Given the description of an element on the screen output the (x, y) to click on. 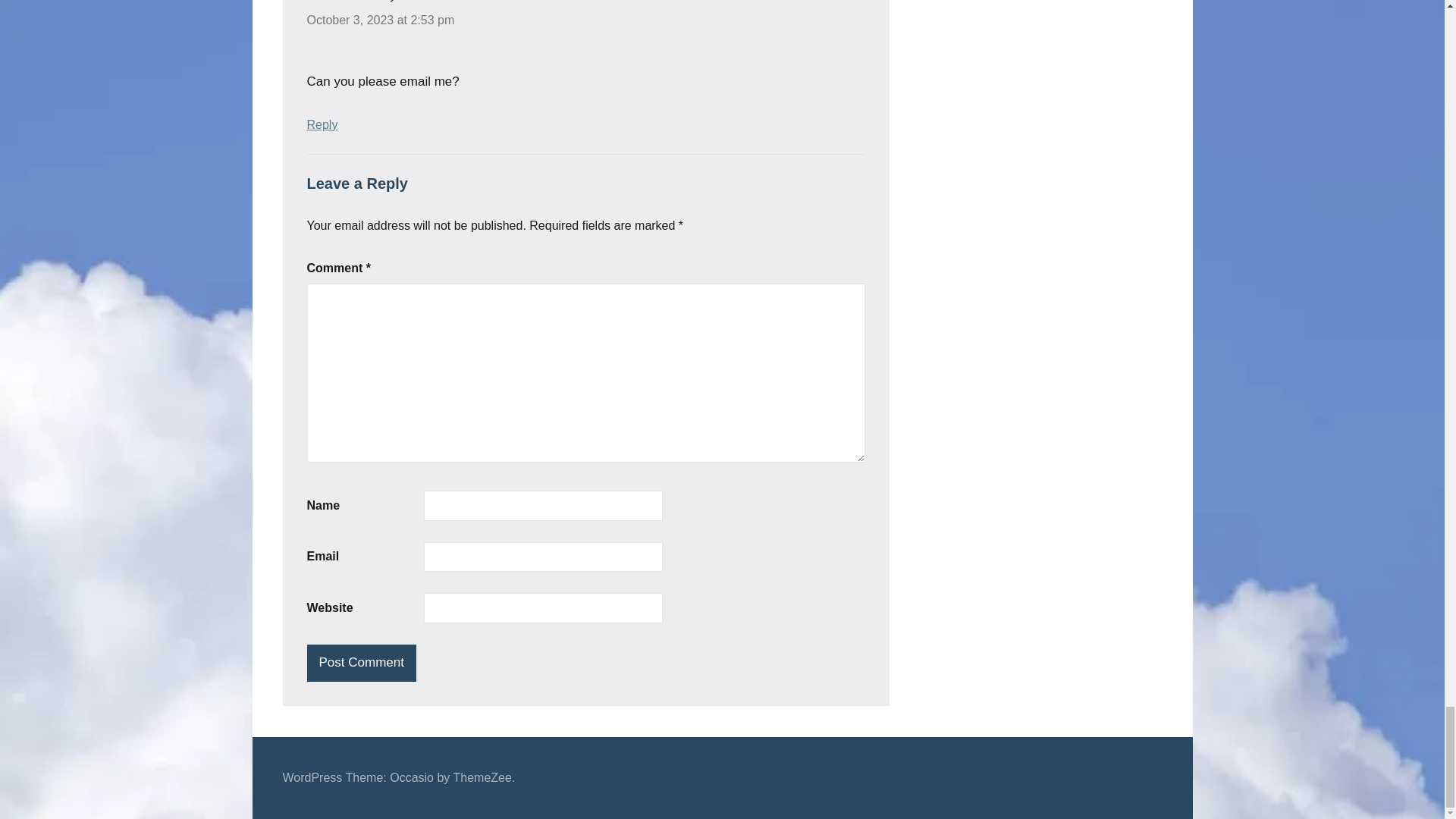
Post Comment (359, 662)
October 3, 2023 at 2:53 pm (379, 19)
Reply (321, 124)
Post Comment (359, 662)
